Given the description of an element on the screen output the (x, y) to click on. 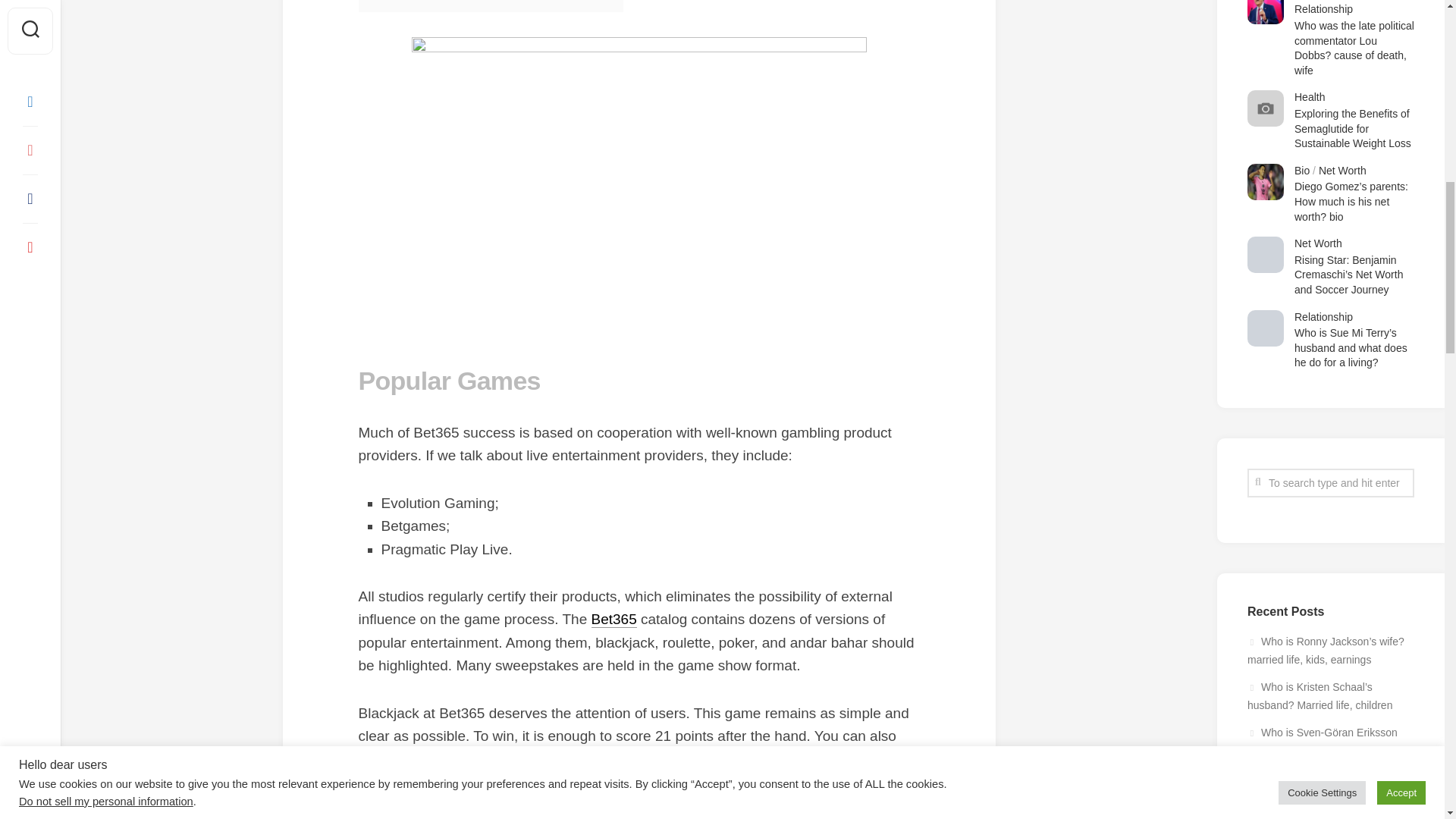
To search type and hit enter (1330, 482)
To search type and hit enter (1330, 482)
